Given the description of an element on the screen output the (x, y) to click on. 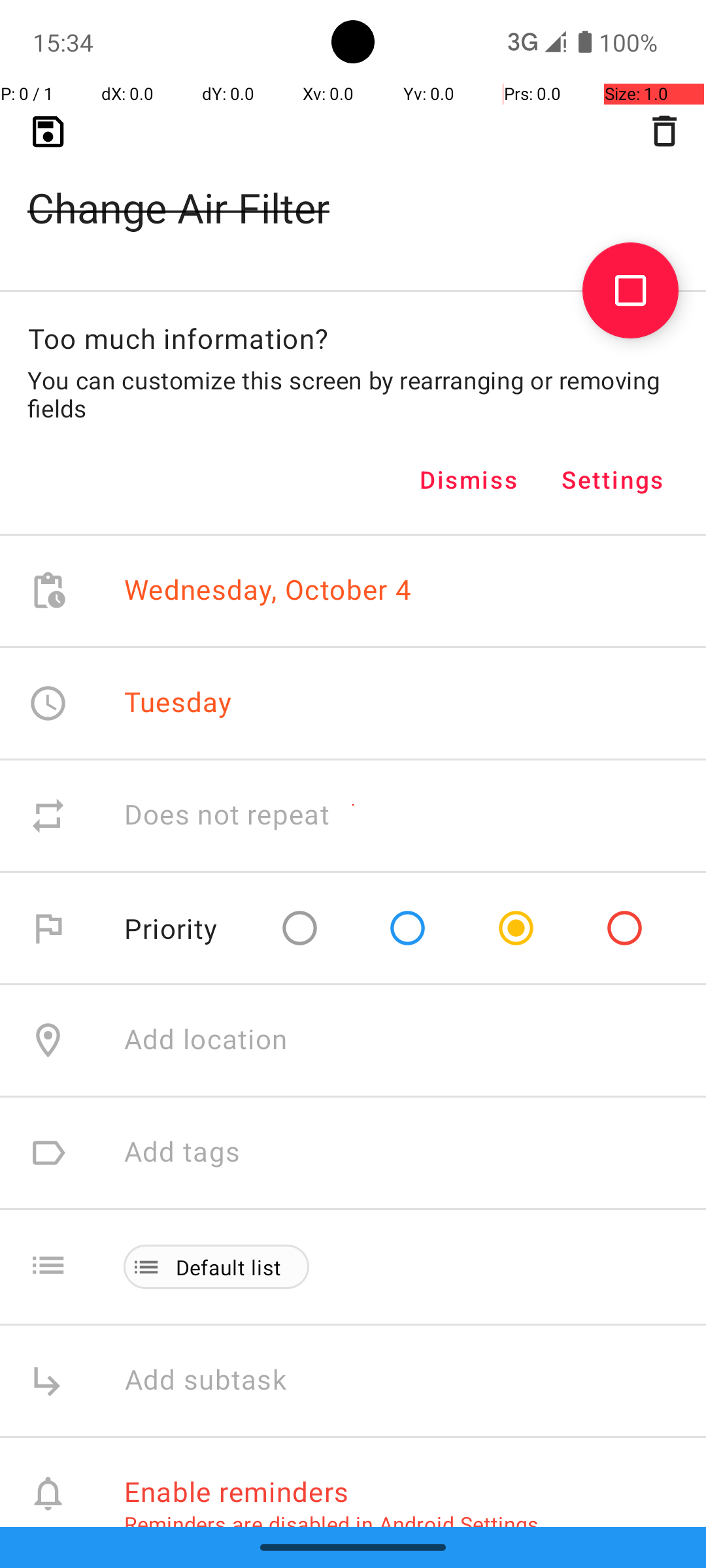
Wednesday, October 4 Element type: android.widget.TextView (267, 590)
